Given the description of an element on the screen output the (x, y) to click on. 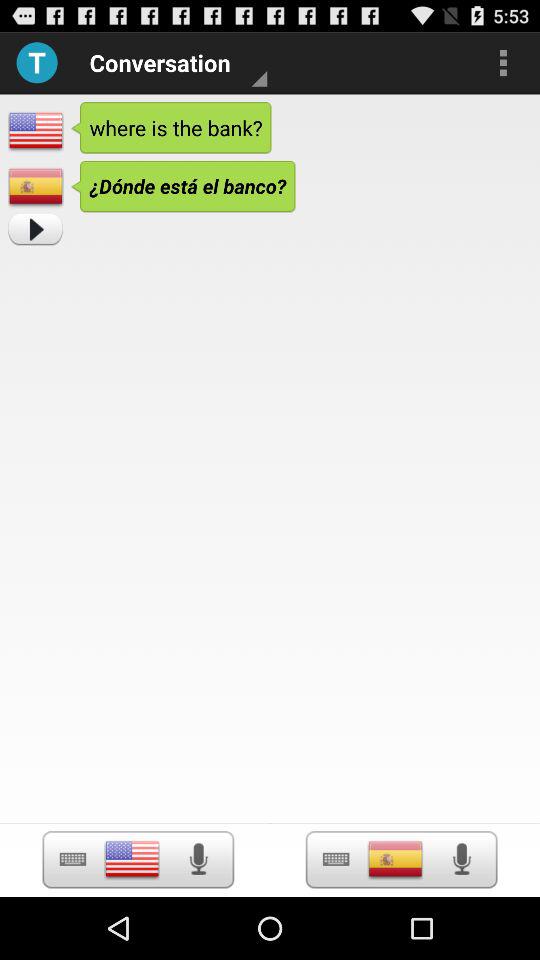
open keyboard (335, 859)
